Given the description of an element on the screen output the (x, y) to click on. 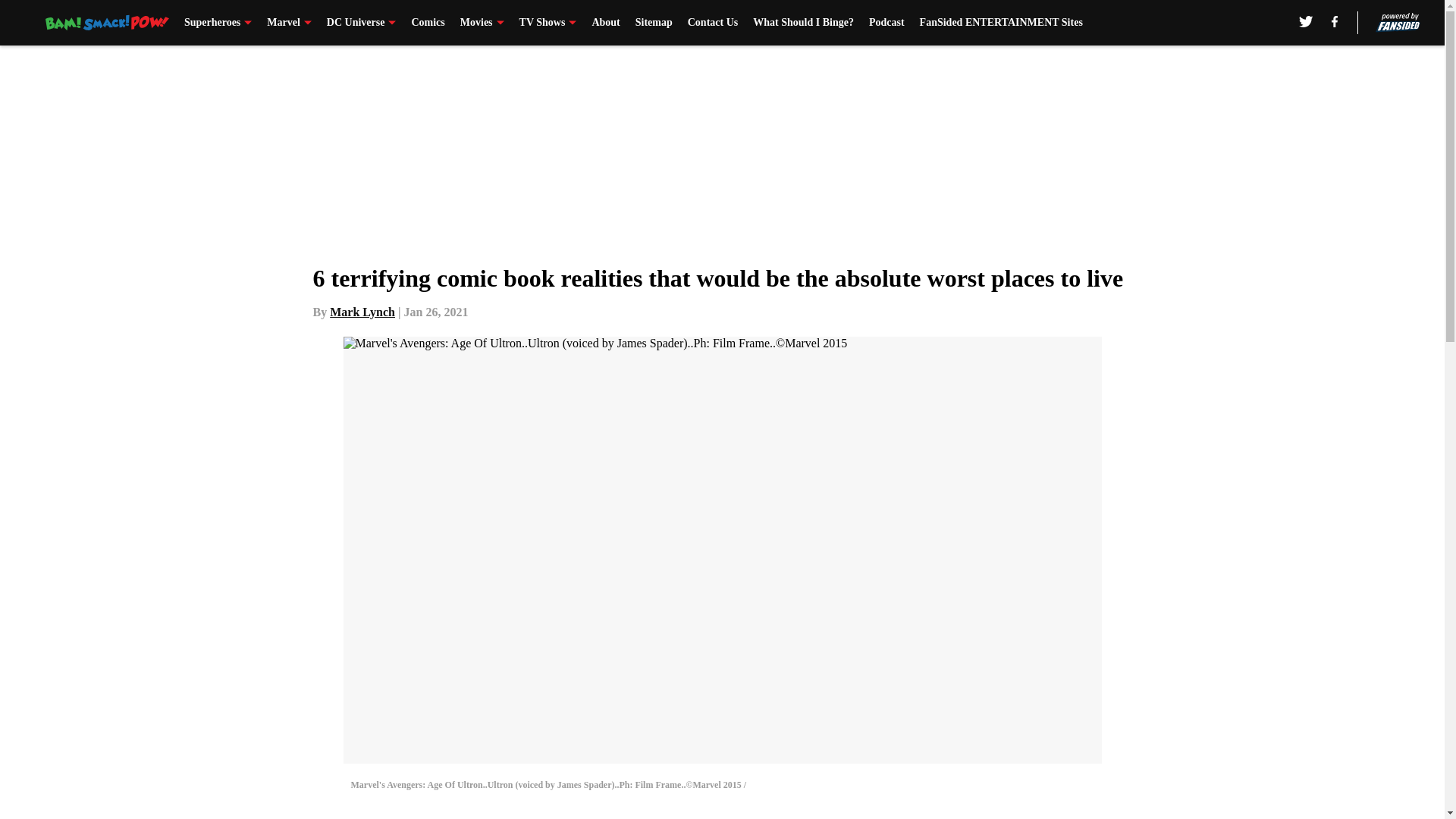
FanSided ENTERTAINMENT Sites (1001, 22)
Podcast (886, 22)
Mark Lynch (362, 311)
Sitemap (653, 22)
Movies (481, 22)
Contact Us (712, 22)
About (605, 22)
What Should I Binge? (802, 22)
Comics (427, 22)
